Given the description of an element on the screen output the (x, y) to click on. 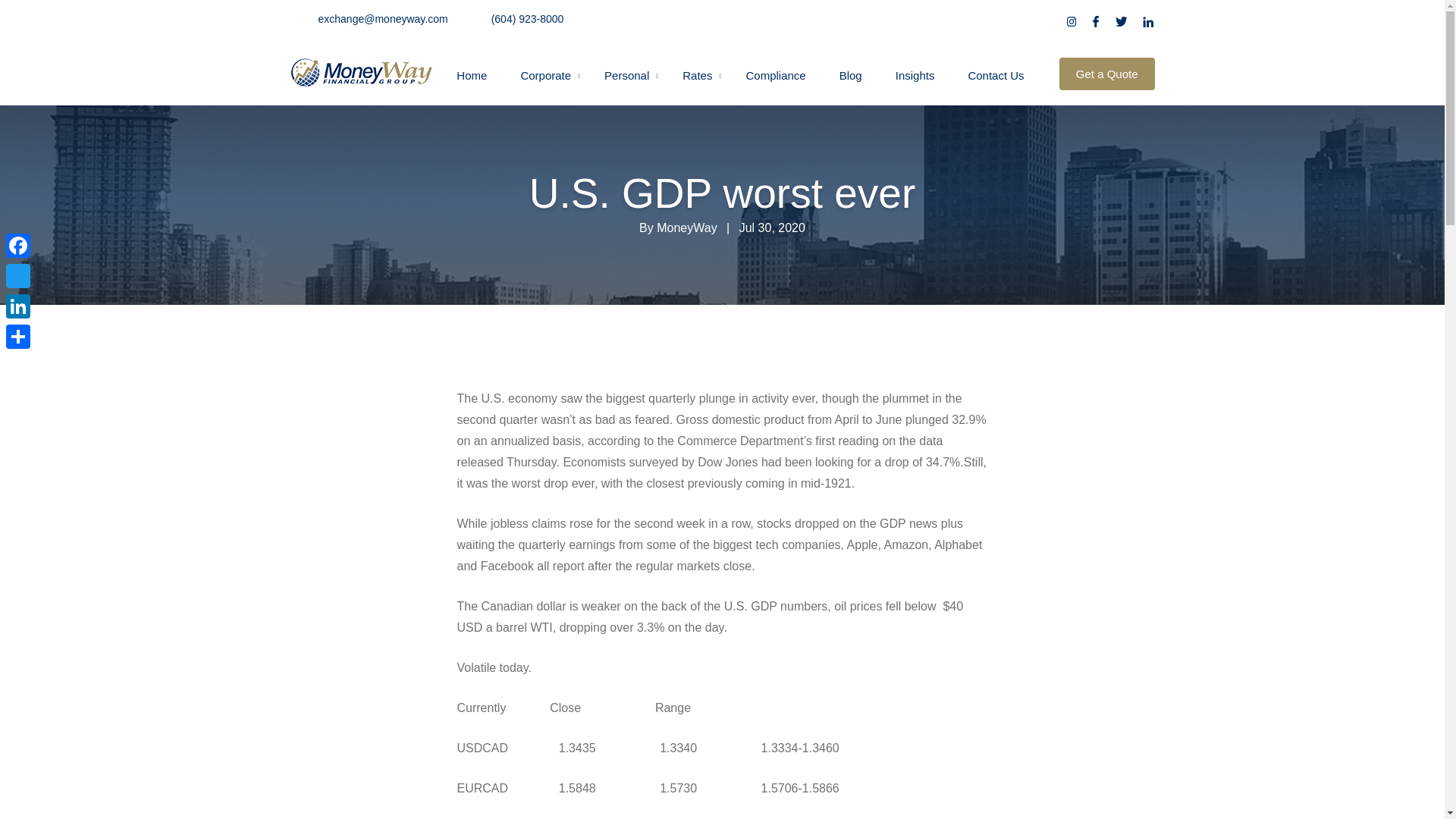
Contact Us (995, 75)
Twitter (17, 276)
Corporate (544, 75)
LinkedIn (17, 306)
Rates (696, 75)
Compliance (775, 75)
Home (471, 75)
Get a Quote (1106, 73)
Personal (626, 75)
Insights (914, 75)
Facebook (17, 245)
